Given the description of an element on the screen output the (x, y) to click on. 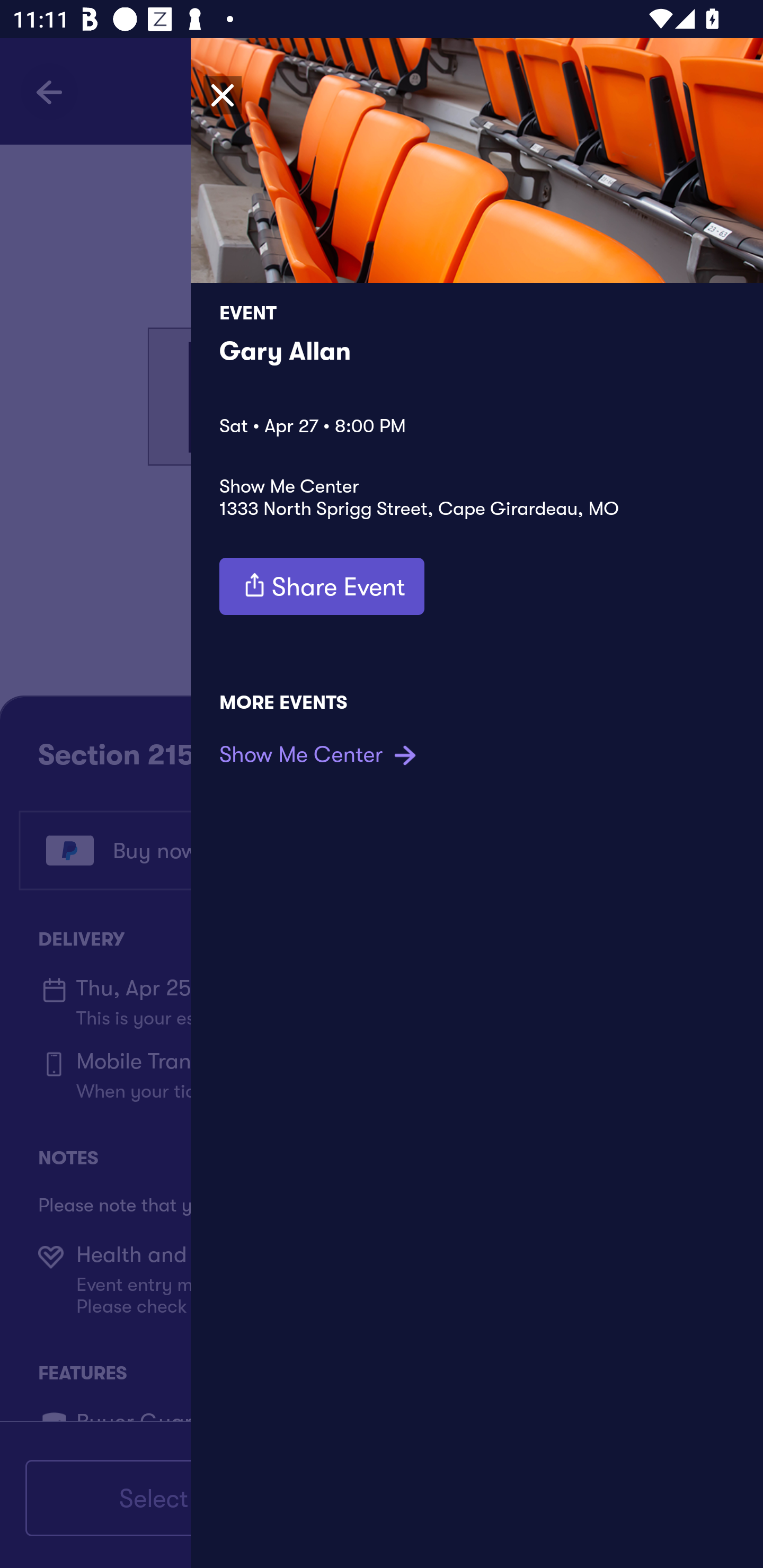
Share Event (321, 586)
Show Me Center (320, 753)
